Given the description of an element on the screen output the (x, y) to click on. 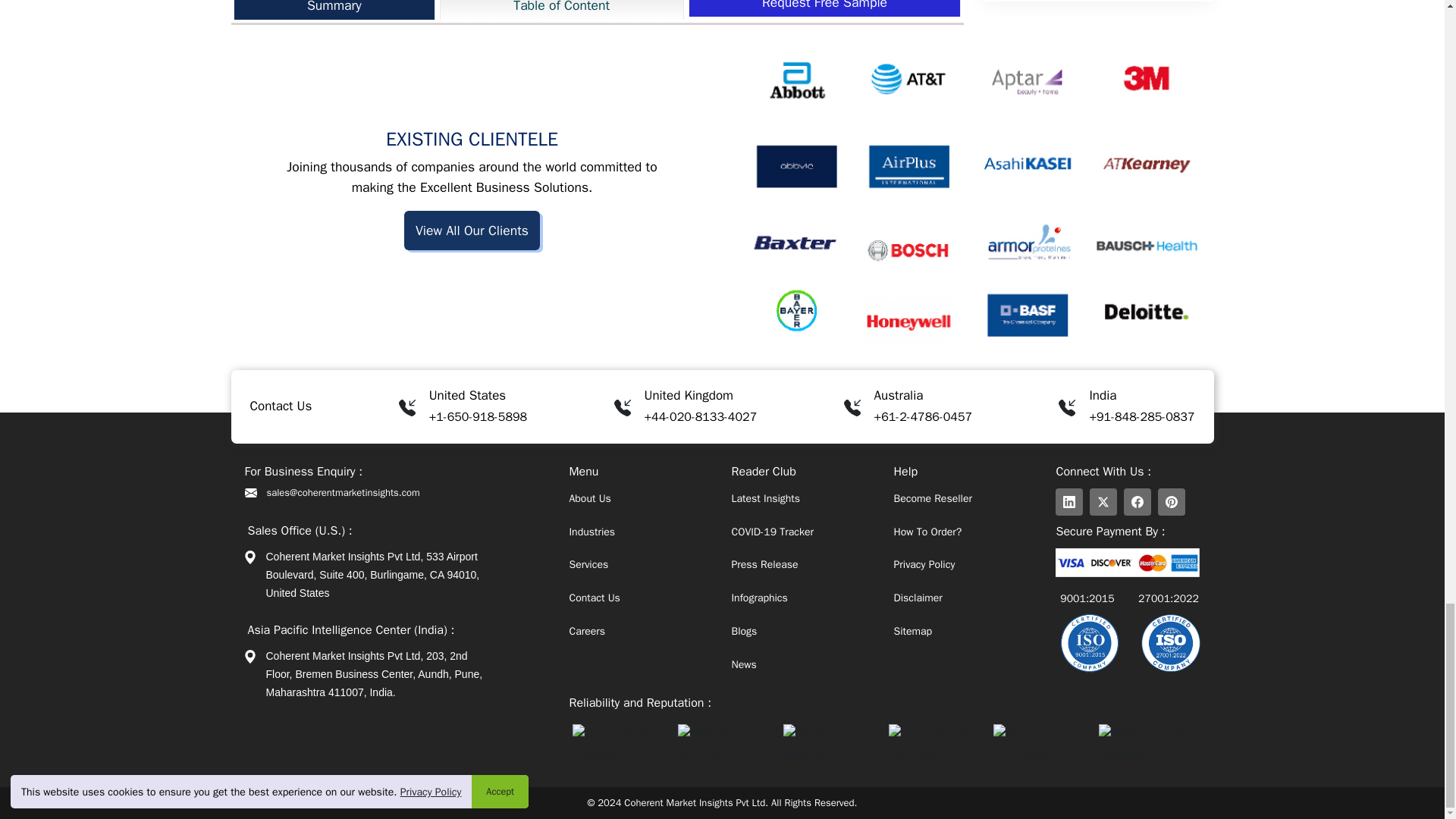
Laser Cladding Materials Market Companies (357, 13)
